Given the description of an element on the screen output the (x, y) to click on. 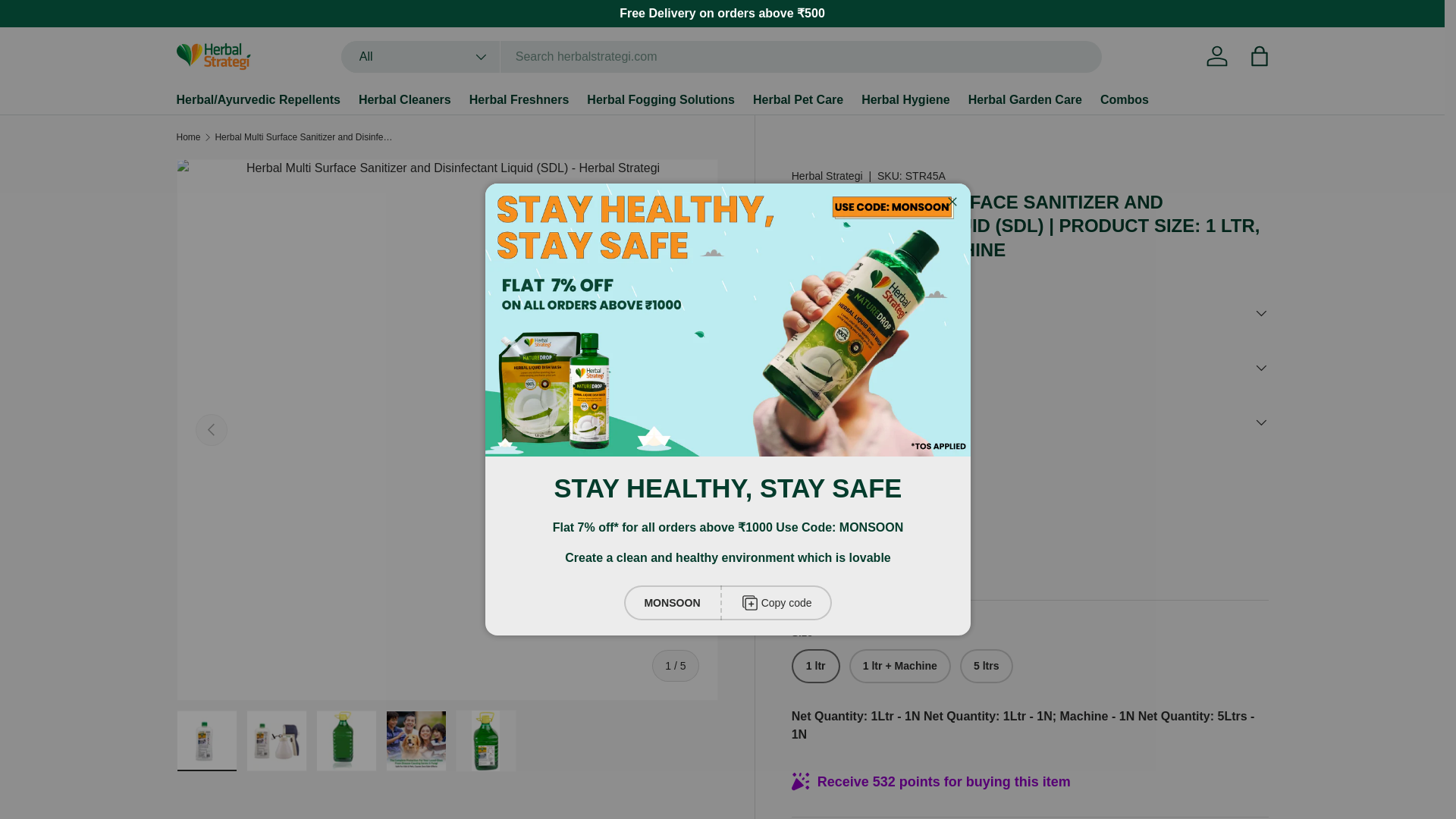
Bag (1258, 55)
Load image 3 in gallery view (345, 741)
Skip to content (69, 21)
Herbal Garden Care (1024, 99)
Log in (1216, 55)
Load image 4 in gallery view (415, 741)
Load image 1 in gallery view (205, 741)
Herbal Strategi (827, 175)
Previous (211, 429)
Herbal Pet Care (797, 99)
Combos (1124, 99)
Shipping (812, 550)
Load image 2 in gallery view (275, 741)
